Given the description of an element on the screen output the (x, y) to click on. 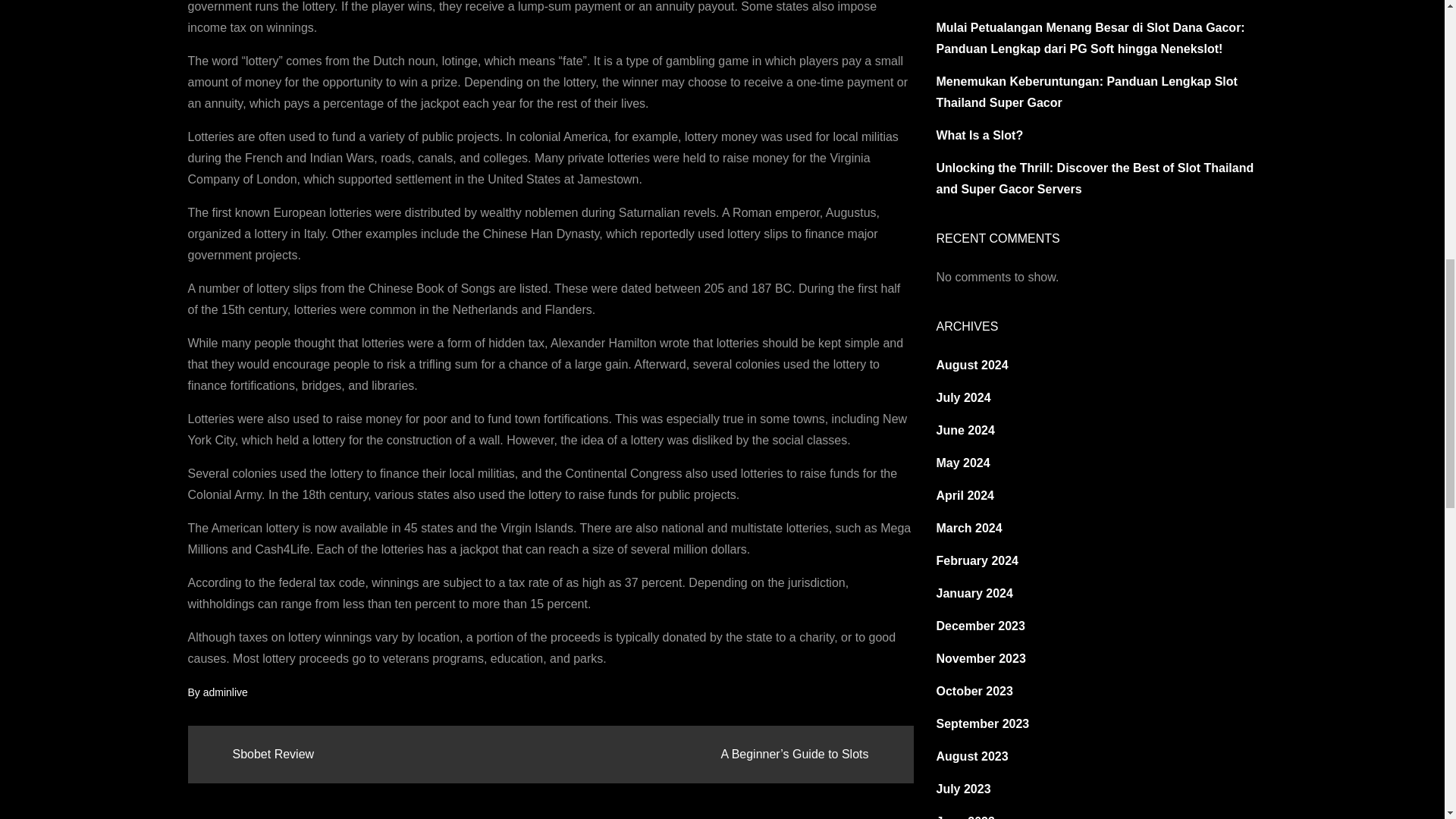
adminlive (225, 692)
August 2023 (971, 756)
July 2024 (963, 397)
August 2024 (971, 364)
September 2023 (982, 723)
February 2024 (976, 560)
December 2023 (980, 625)
June 2024 (965, 430)
March 2024 (968, 527)
October 2023 (973, 690)
What Is a Slot? (979, 134)
